Given the description of an element on the screen output the (x, y) to click on. 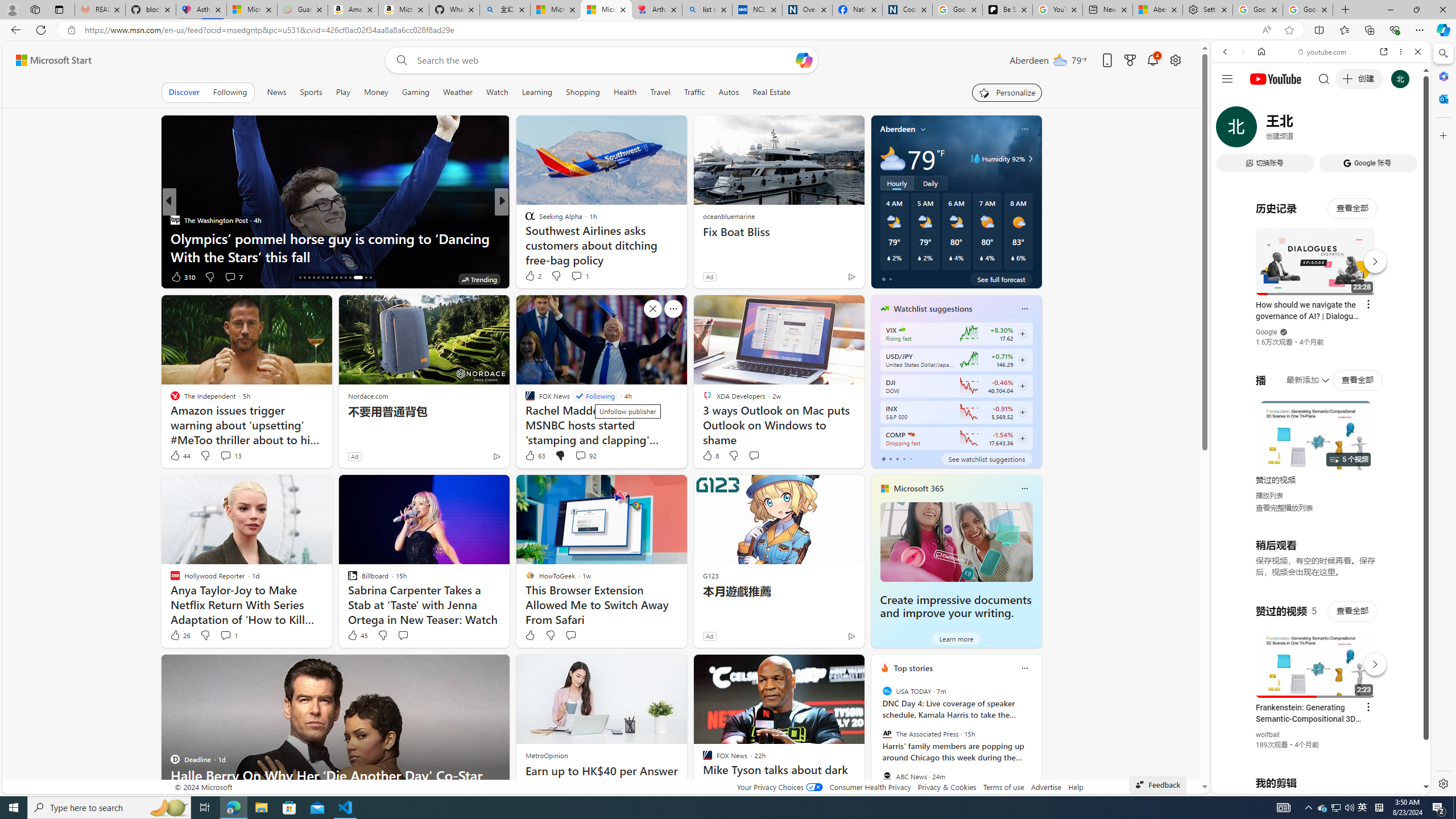
Nordace.com (367, 395)
Google (1266, 331)
Autos (728, 92)
View comments 20 Comment (585, 276)
Search Filter, WEB (1230, 129)
Travel (660, 92)
Like (529, 634)
View comments 92 Comment (580, 455)
Class: icon-img (1024, 668)
Mostly cloudy (892, 158)
45 Like (357, 634)
